Given the description of an element on the screen output the (x, y) to click on. 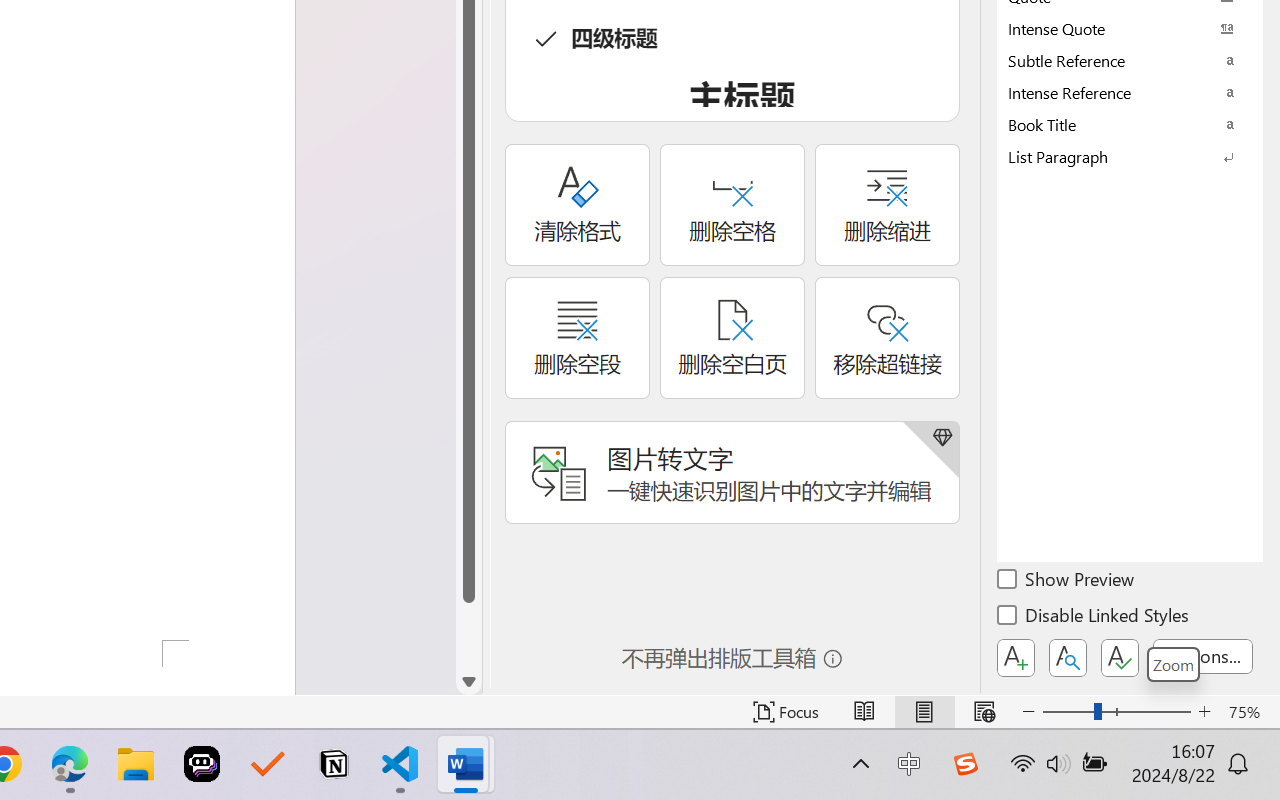
Line down (468, 681)
Focus  (786, 712)
Book Title (1130, 124)
